Given the description of an element on the screen output the (x, y) to click on. 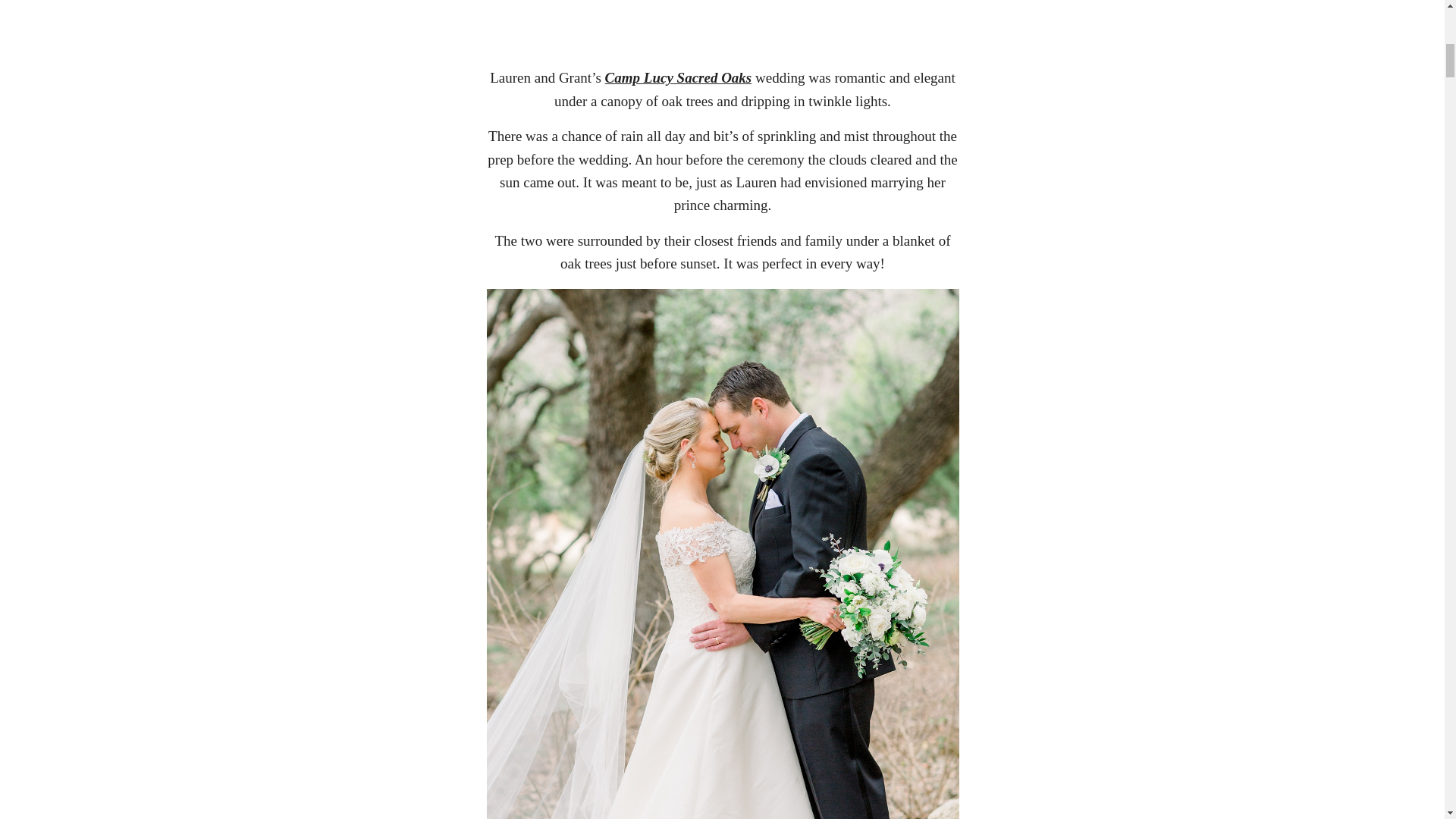
Camp Lucy Sacred Oaks (678, 77)
